Given the description of an element on the screen output the (x, y) to click on. 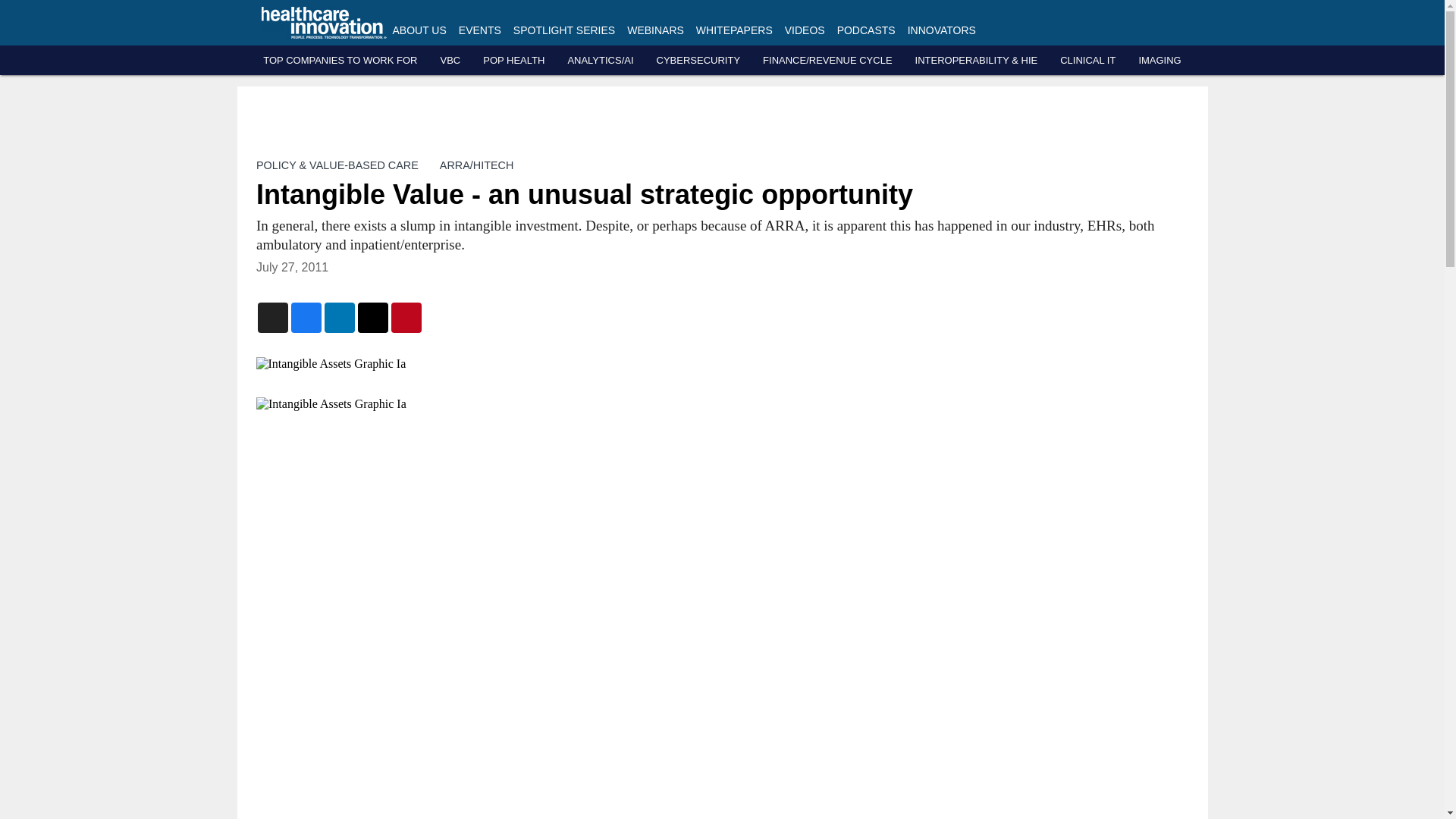
TOP COMPANIES TO WORK FOR (339, 60)
Intangible Assets Graphic Ia (560, 364)
POP HEALTH (513, 60)
IMAGING (1159, 60)
CLINICAL IT (1087, 60)
PODCASTS (866, 30)
WEBINARS (655, 30)
EVENTS (479, 30)
SPOTLIGHT SERIES (563, 30)
VBC (449, 60)
CYBERSECURITY (698, 60)
VIDEOS (804, 30)
WHITEPAPERS (734, 30)
INNOVATORS (941, 30)
ABOUT US (419, 30)
